Given the description of an element on the screen output the (x, y) to click on. 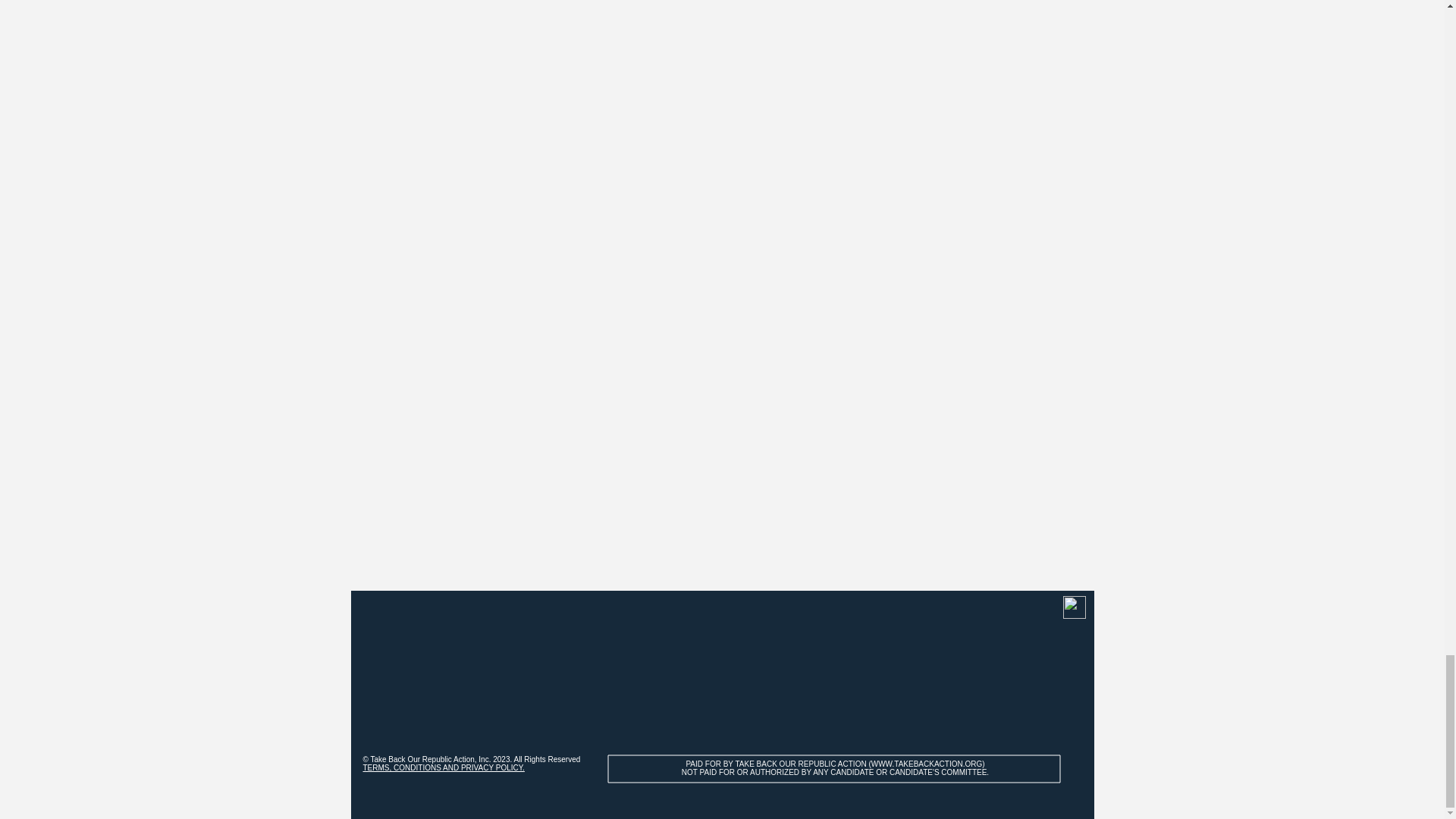
WWW.TAKEBACKACTION.ORG (925, 764)
TERMS, CONDITIONS AND PRIVACY POLICY. (443, 767)
